Given the description of an element on the screen output the (x, y) to click on. 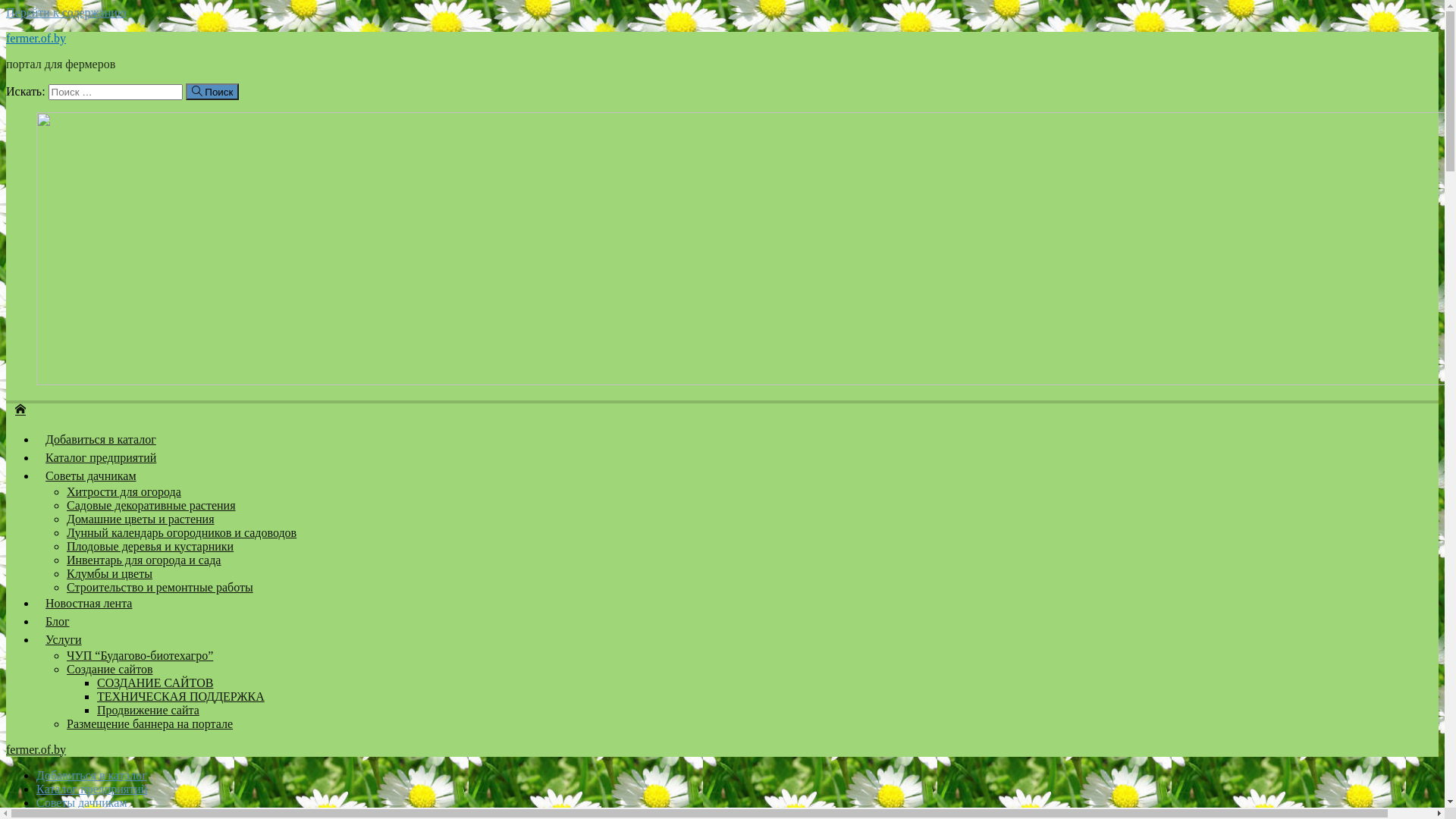
fermer.of.by Element type: text (35, 749)
fermer.of.by Element type: hover (20, 408)
fermer.of.by Element type: text (35, 37)
